Given the description of an element on the screen output the (x, y) to click on. 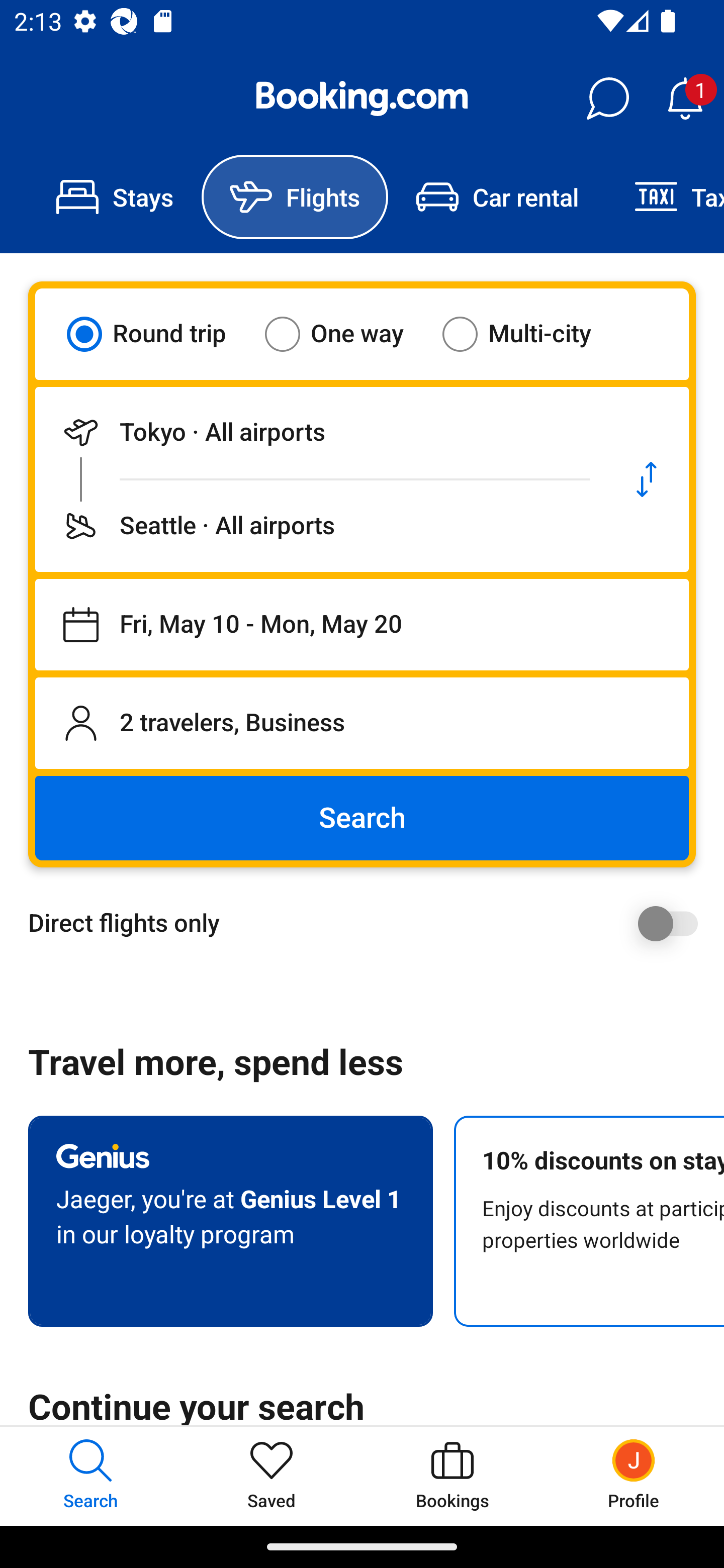
Messages (607, 98)
Notifications (685, 98)
Stays (114, 197)
Flights (294, 197)
Car rental (497, 197)
Taxi (665, 197)
One way (346, 333)
Multi-city (528, 333)
Departing from Tokyo · All airports (319, 432)
Swap departure location and destination (646, 479)
Flying to Seattle · All airports (319, 525)
Departing on Fri, May 10, returning on Mon, May 20 (361, 624)
2 travelers, Business (361, 722)
Search (361, 818)
Direct flights only (369, 923)
Saved (271, 1475)
Bookings (452, 1475)
Profile (633, 1475)
